Given the description of an element on the screen output the (x, y) to click on. 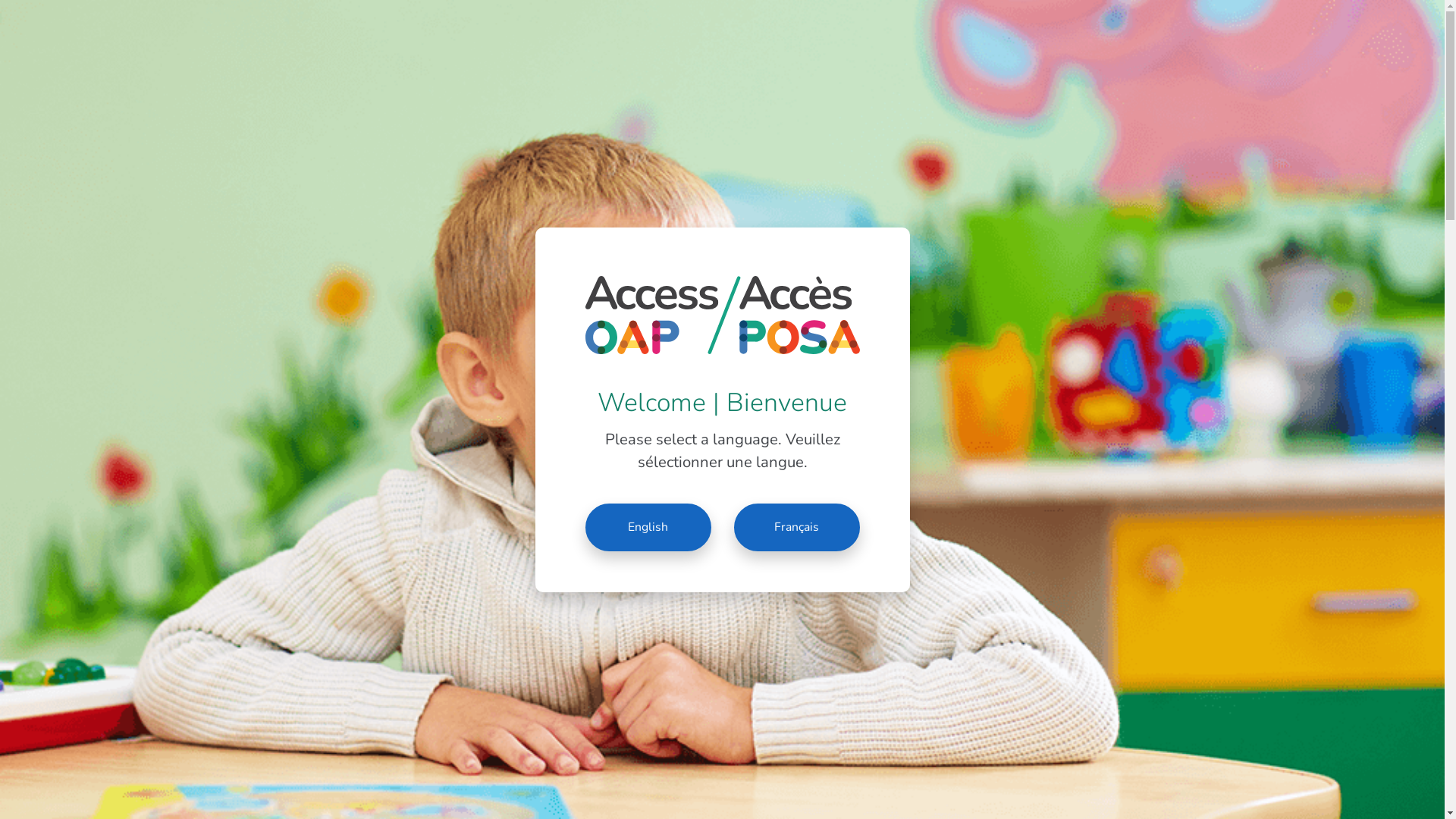
Family Portal Element type: text (1191, 21)
Login Element type: text (1373, 77)
About Us Element type: text (1197, 76)
English Element type: text (648, 527)
OAP Services Element type: text (1089, 76)
Public Element type: text (1115, 21)
FAQs Element type: text (1277, 76)
Providers Element type: text (981, 76)
Families Element type: text (892, 76)
Search Element type: text (22, 10)
